Given the description of an element on the screen output the (x, y) to click on. 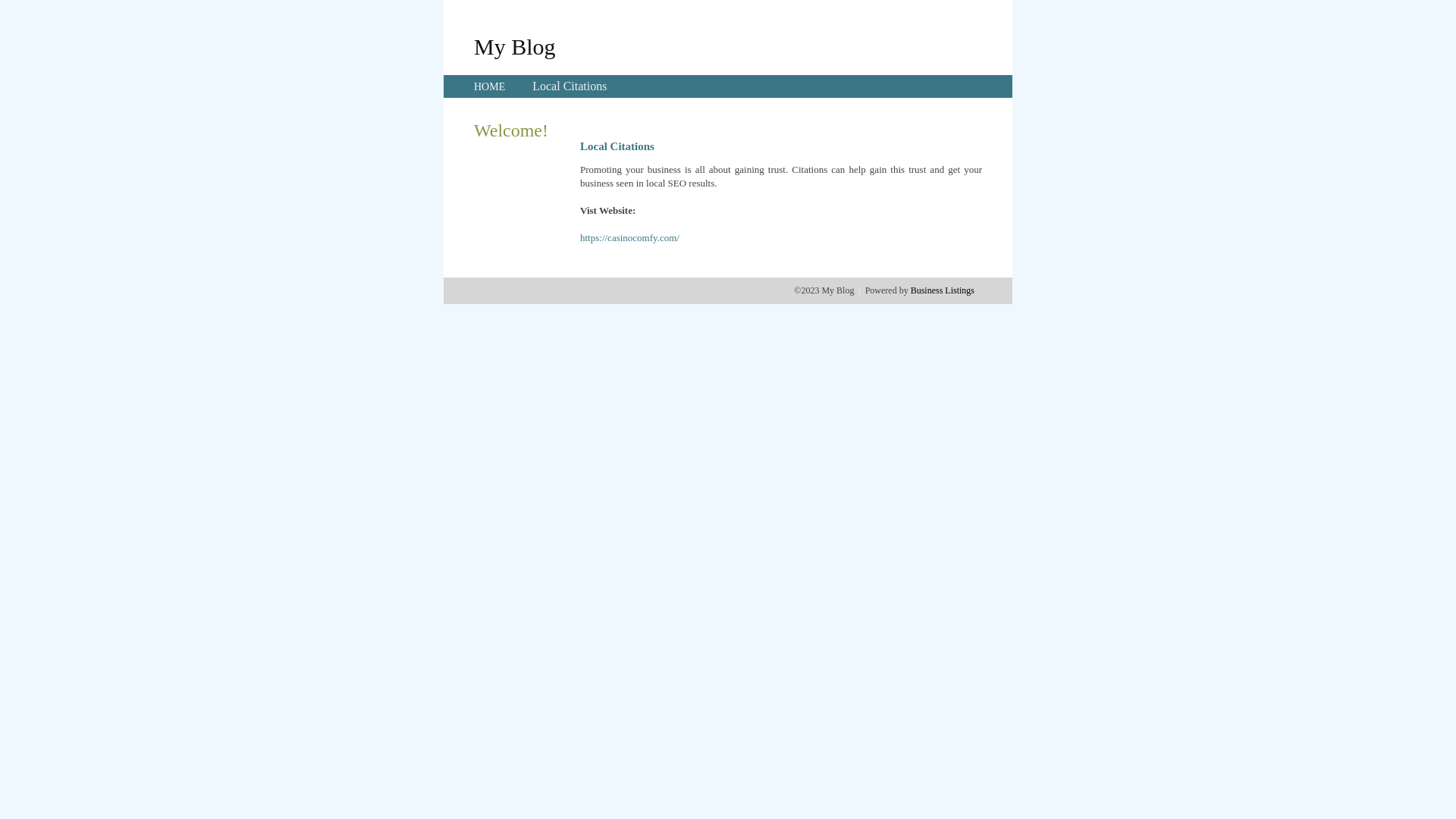
Business Listings Element type: text (942, 290)
https://casinocomfy.com/ Element type: text (629, 237)
Local Citations Element type: text (569, 85)
HOME Element type: text (489, 86)
My Blog Element type: text (514, 46)
